Given the description of an element on the screen output the (x, y) to click on. 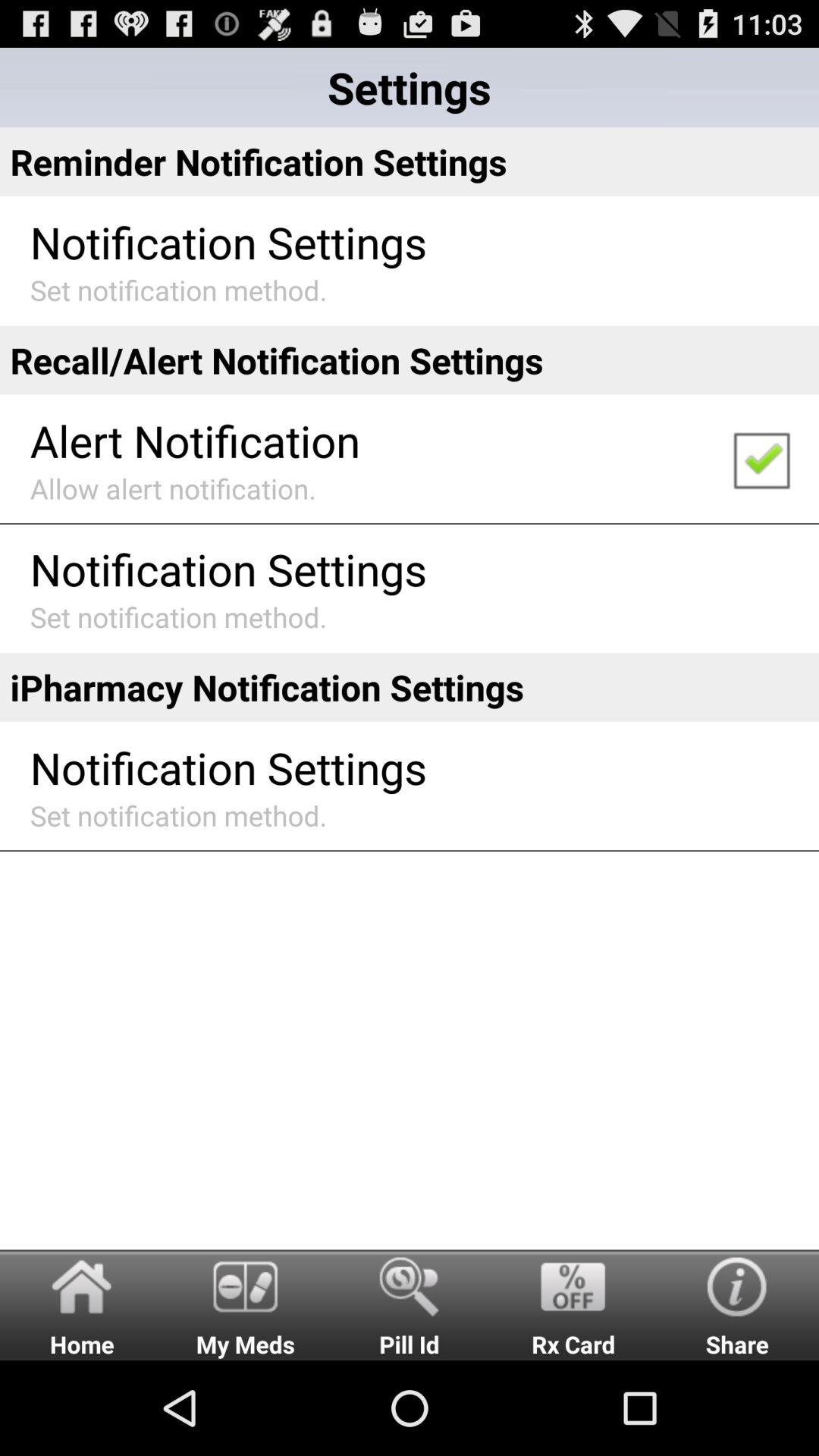
click home (81, 1304)
